Given the description of an element on the screen output the (x, y) to click on. 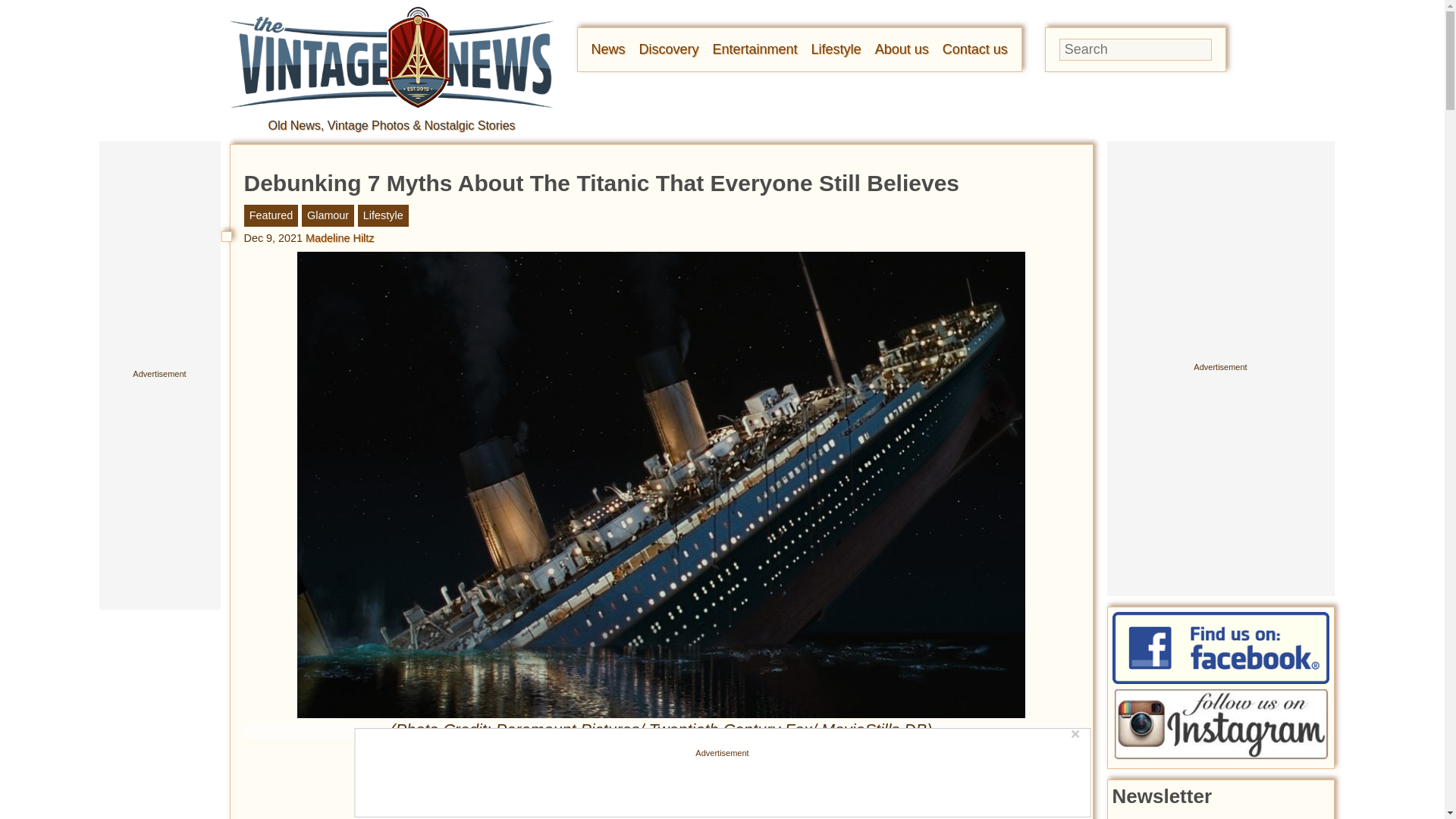
Discovery (668, 48)
Contact us (974, 48)
Lifestyle (835, 48)
News (608, 48)
Entertainment (755, 48)
About us (901, 48)
